Given the description of an element on the screen output the (x, y) to click on. 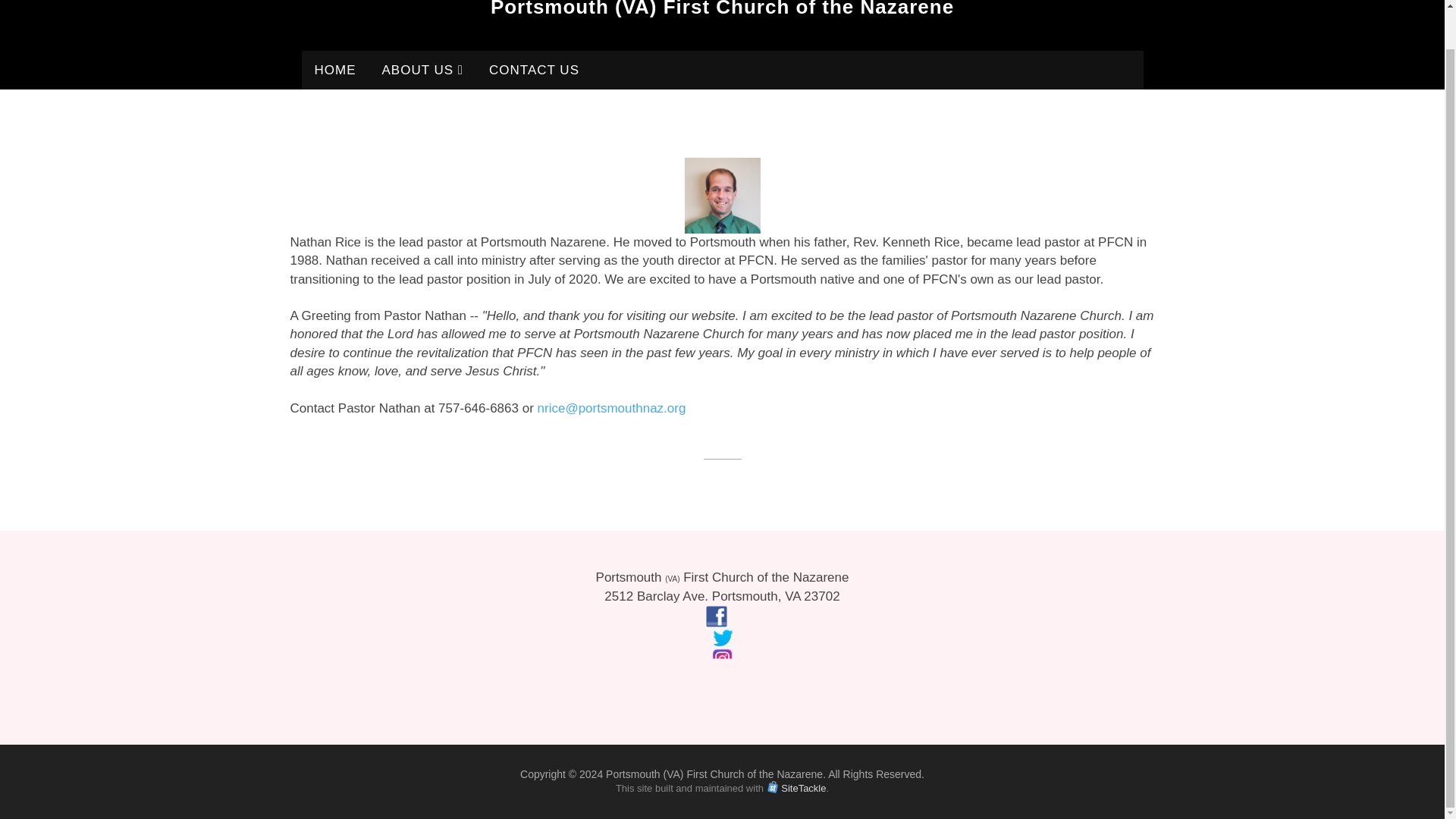
SiteTackle (802, 787)
HOME (335, 69)
ABOUT US (422, 69)
CONTACT US (534, 69)
